Given the description of an element on the screen output the (x, y) to click on. 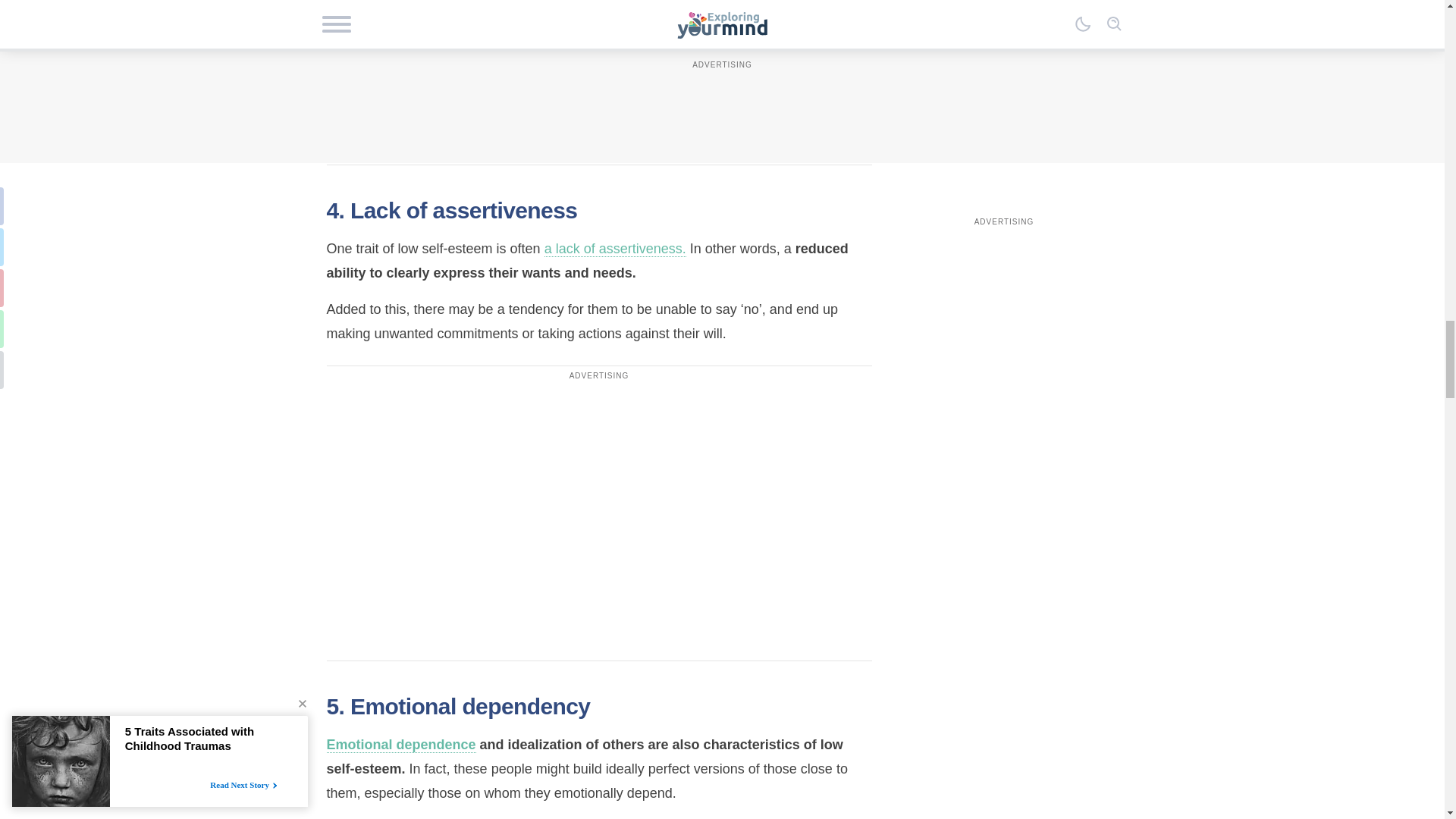
a lack of assertiveness. (614, 248)
Emotional dependence (401, 744)
